Given the description of an element on the screen output the (x, y) to click on. 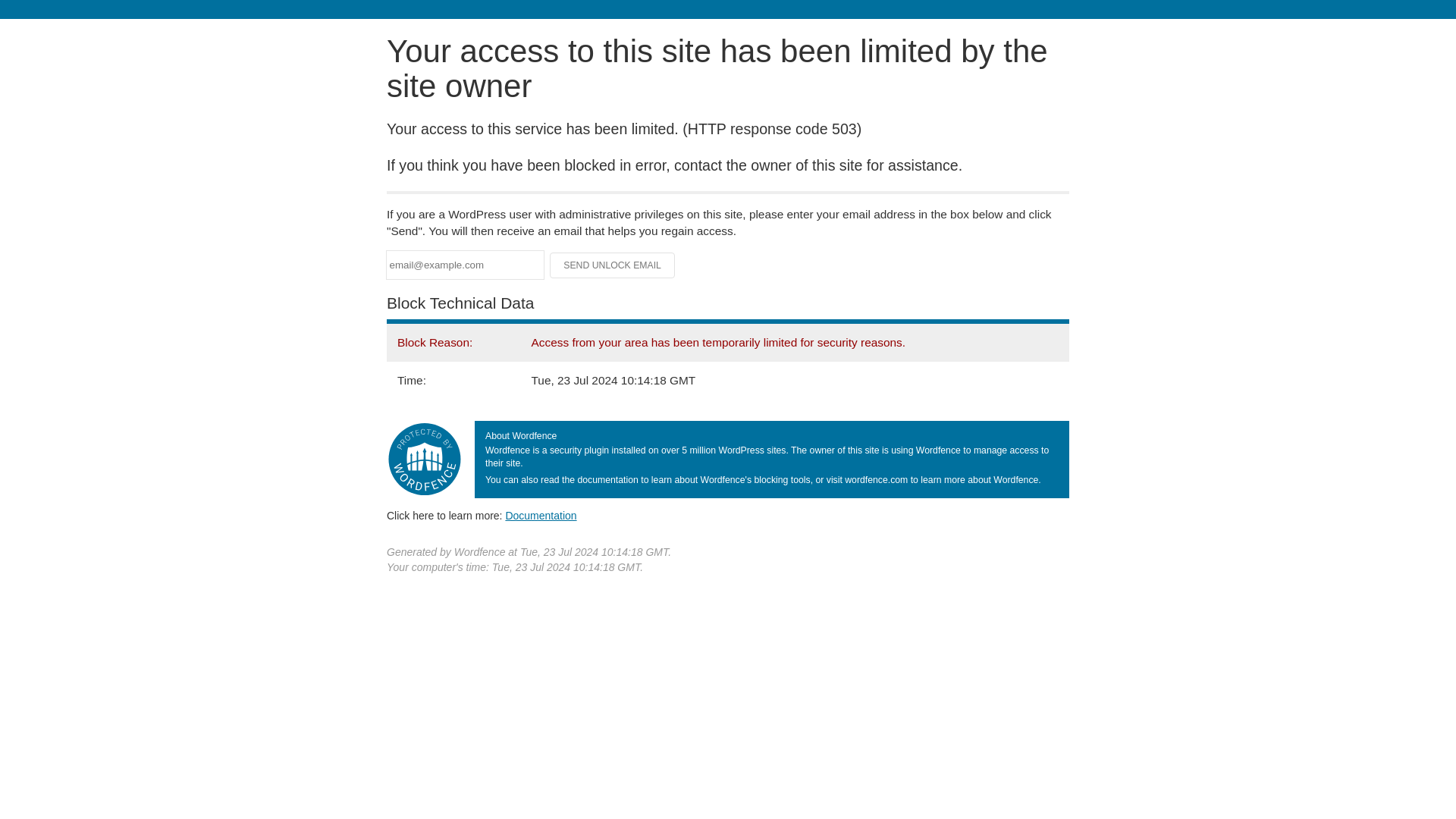
Send Unlock Email (612, 265)
Documentation (540, 515)
Send Unlock Email (612, 265)
